Given the description of an element on the screen output the (x, y) to click on. 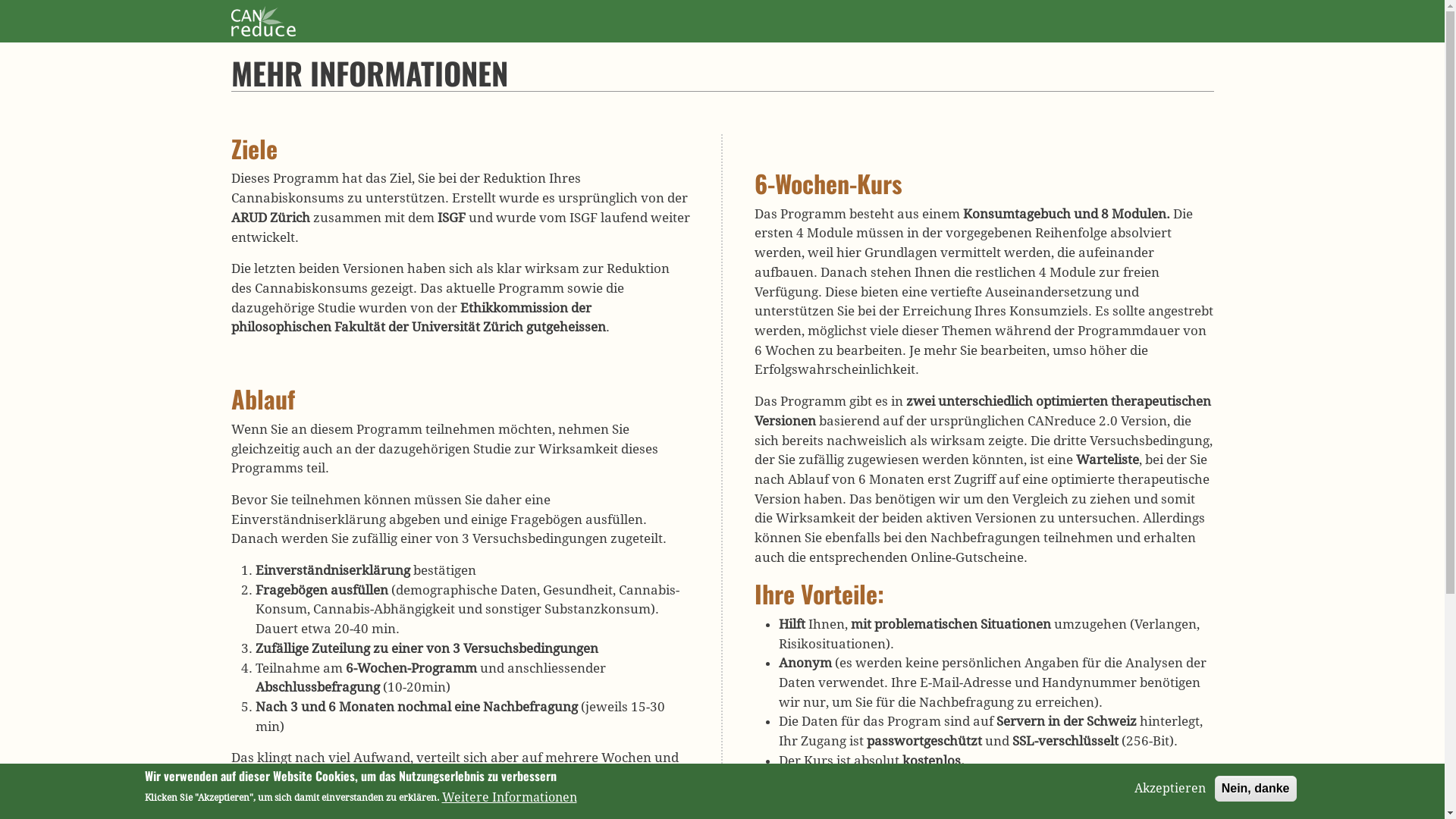
Startseite Element type: hover (262, 17)
Weitere Informationen Element type: text (508, 796)
Akzeptieren Element type: text (1169, 788)
Nein, danke Element type: text (1255, 788)
